Given the description of an element on the screen output the (x, y) to click on. 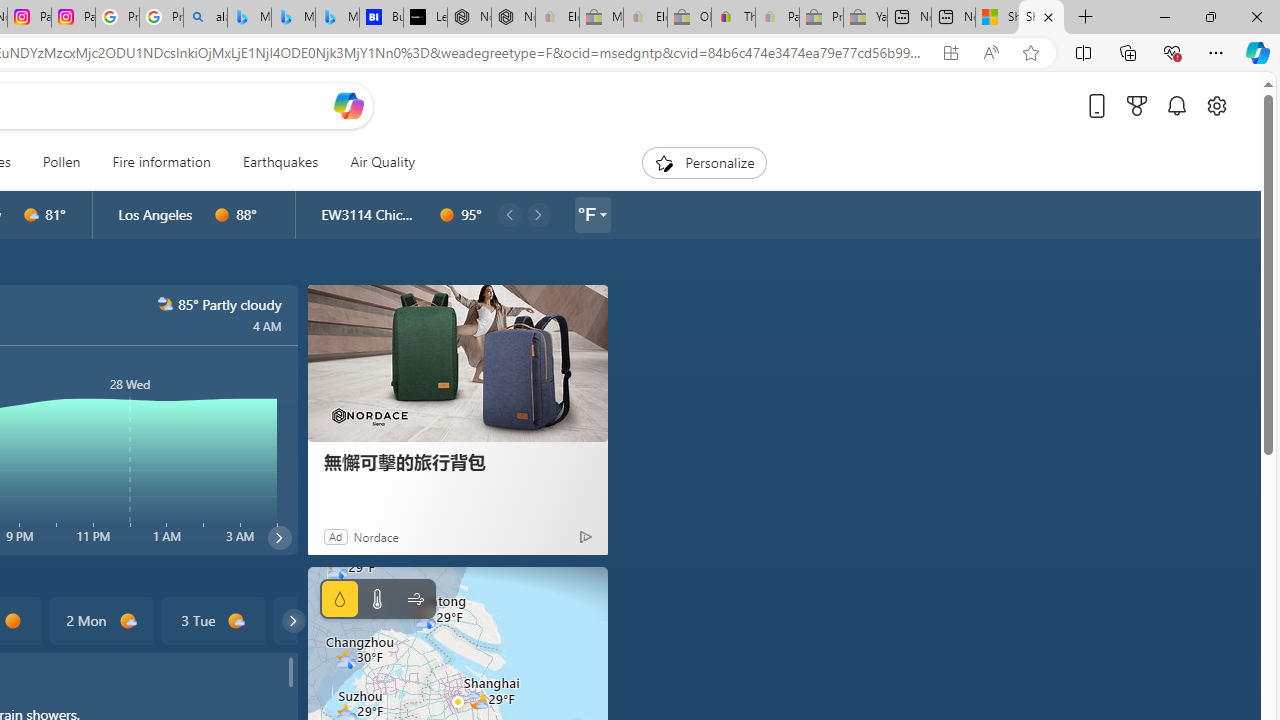
Temperature (376, 599)
App available. Install Microsoft Start Weather (950, 53)
Fire information (161, 162)
d1000 (235, 621)
